Given the description of an element on the screen output the (x, y) to click on. 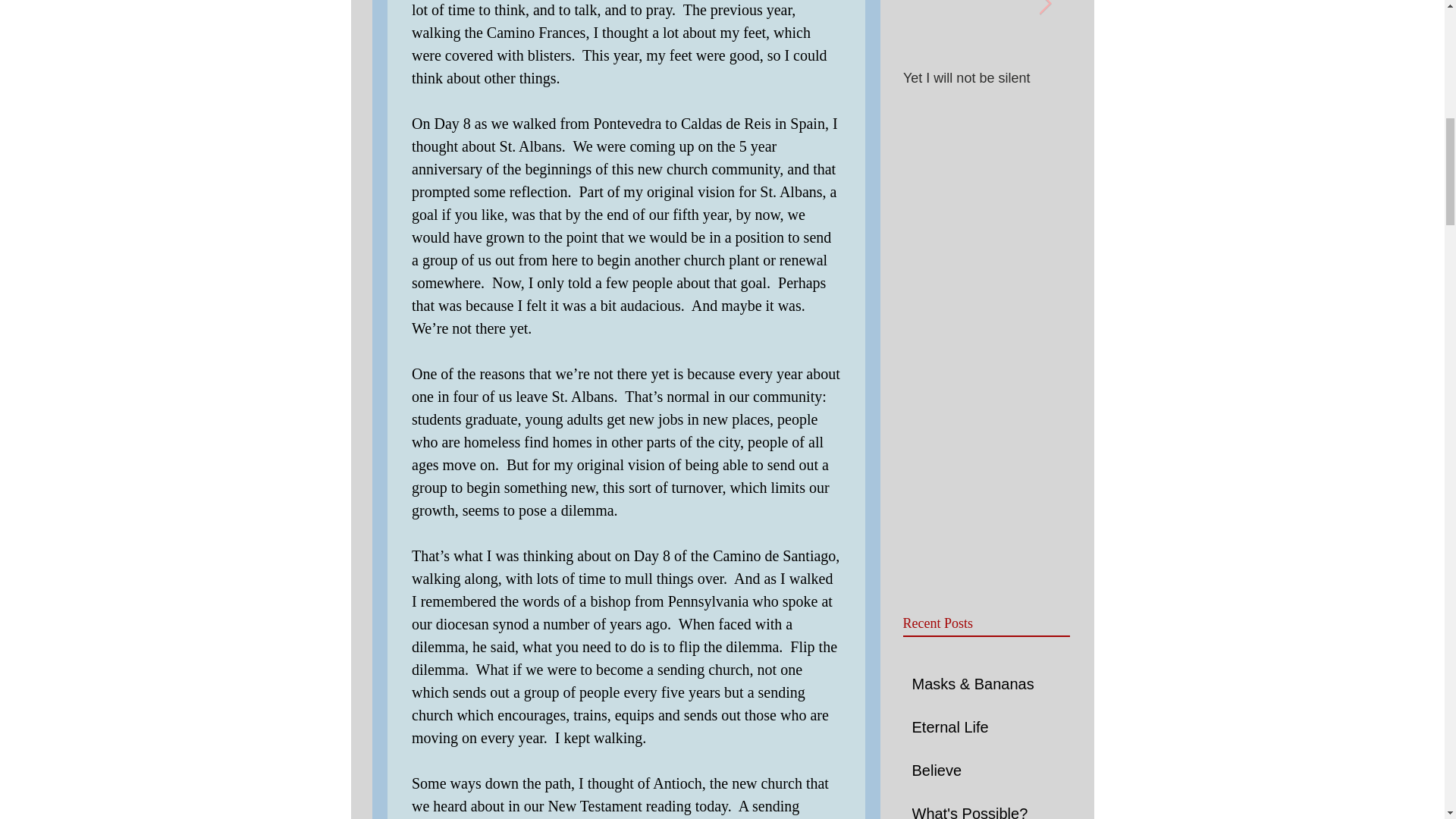
What's Possible? (980, 811)
Yet I will not be silent (985, 78)
Believe (980, 773)
Eternal Life (980, 729)
Be the Church (1152, 78)
